Given the description of an element on the screen output the (x, y) to click on. 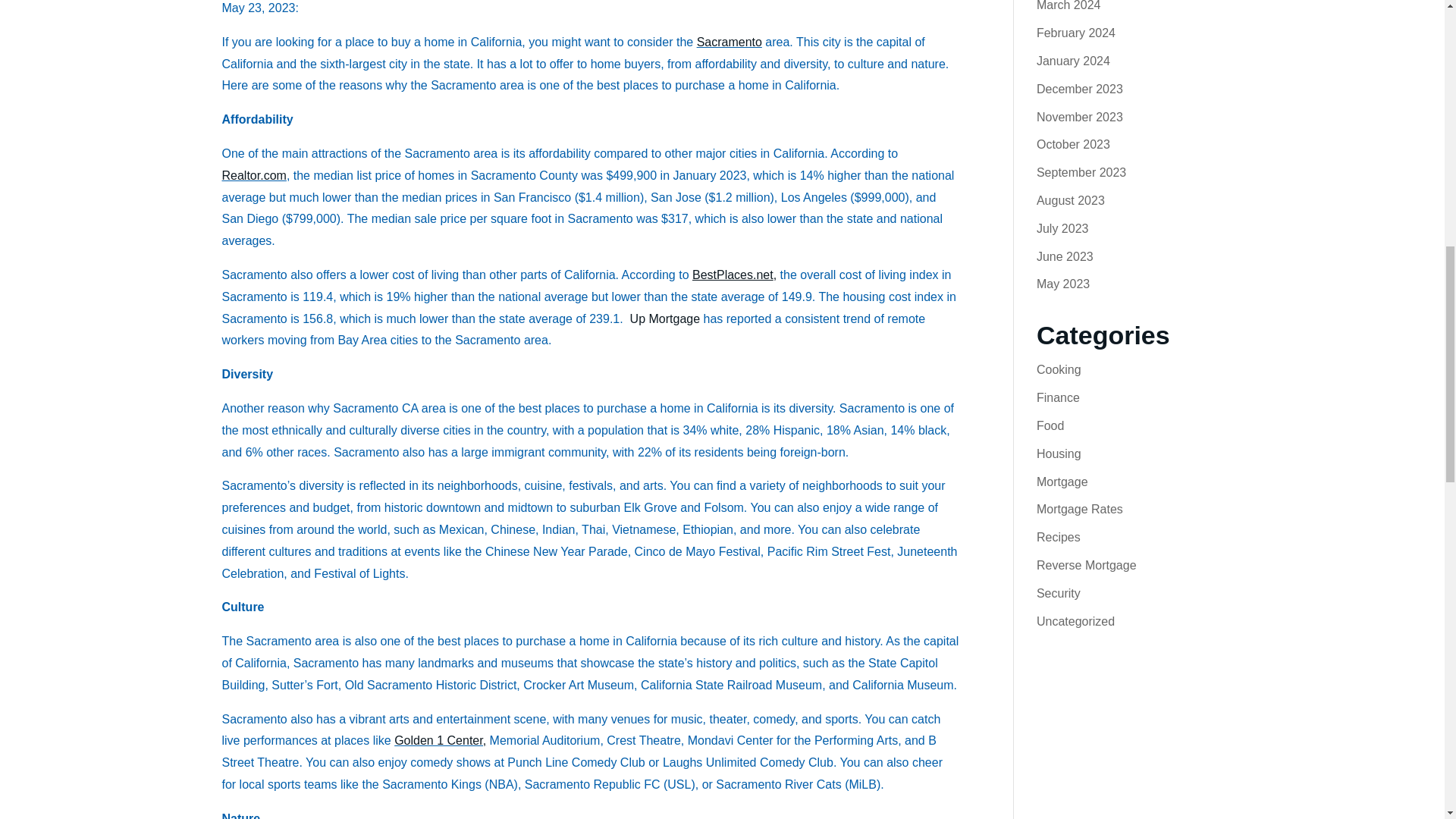
City of Sacramento (729, 42)
Best Places (734, 274)
Golden 1 Center, (440, 739)
BestPlaces.net, (734, 274)
Golden 1 Center (440, 739)
Realtor.com (253, 174)
Realtor.com (253, 174)
Up Mortgage (665, 318)
Sacramento (729, 42)
